Given the description of an element on the screen output the (x, y) to click on. 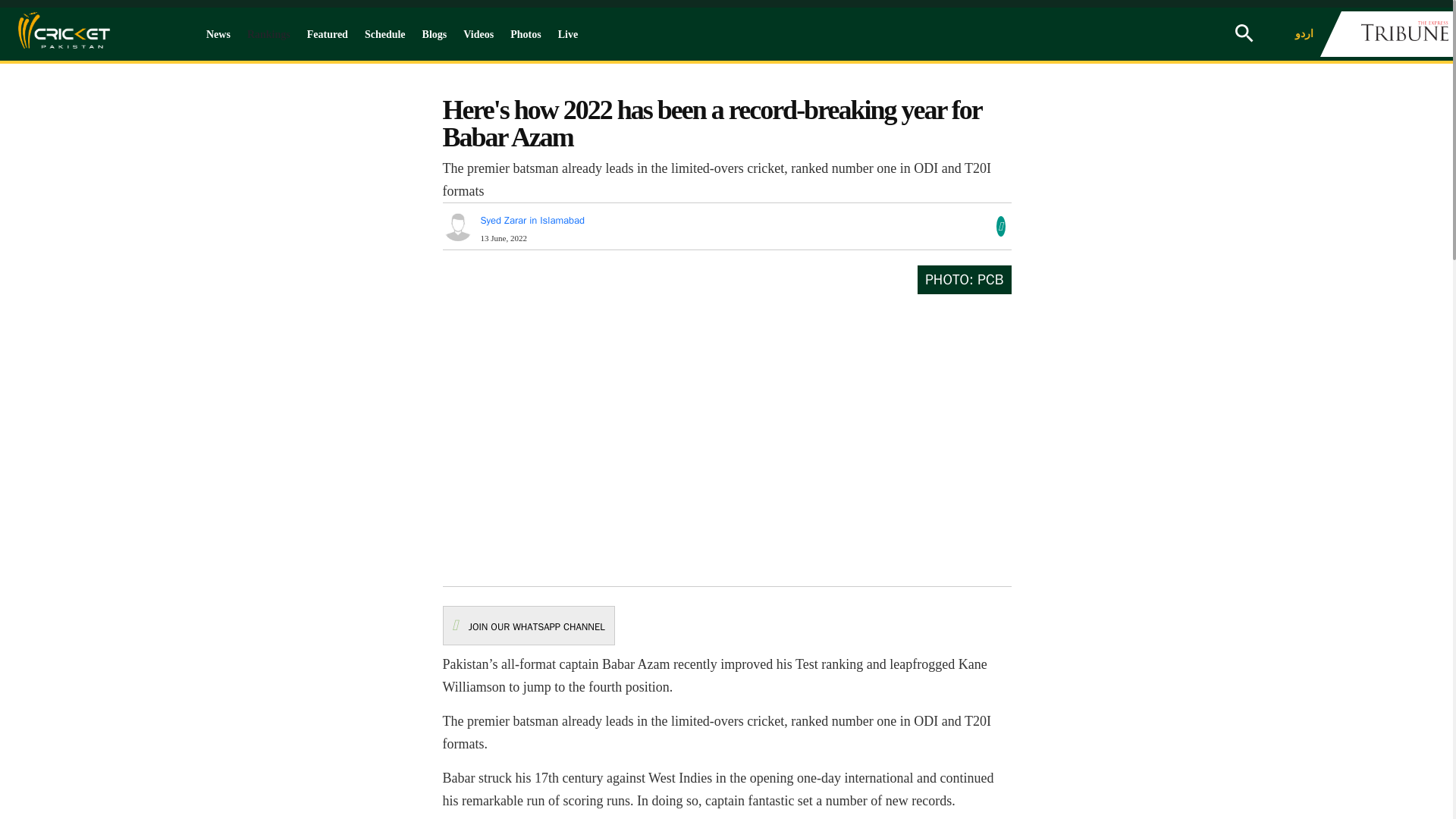
Schedule (384, 34)
Videos (477, 34)
Featured (327, 34)
Rankings (269, 34)
Photos (525, 34)
